Given the description of an element on the screen output the (x, y) to click on. 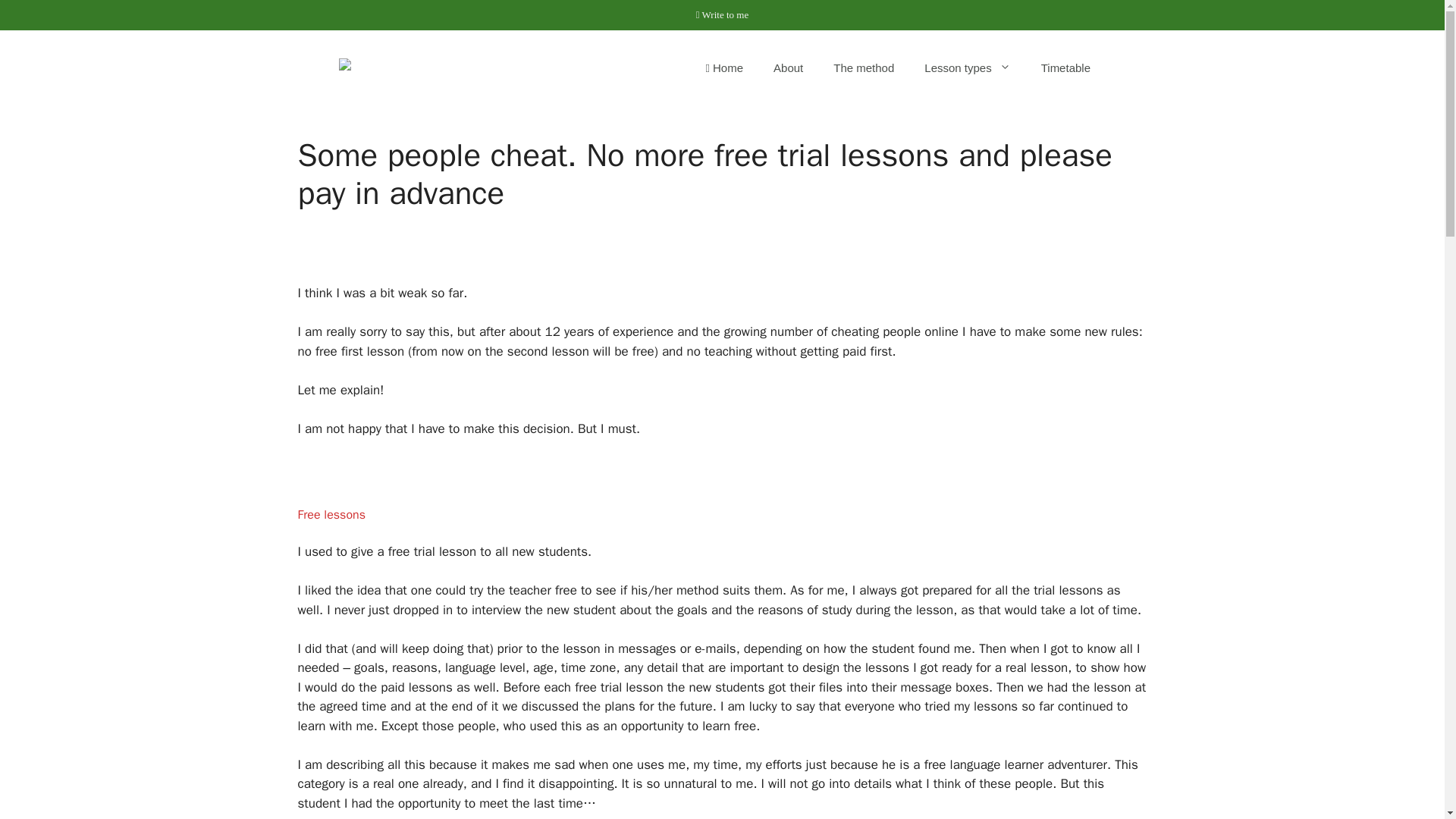
Timetable (1065, 67)
The method (863, 67)
Home (724, 67)
About (788, 67)
Write to me (721, 14)
Lesson types (966, 67)
